Given the description of an element on the screen output the (x, y) to click on. 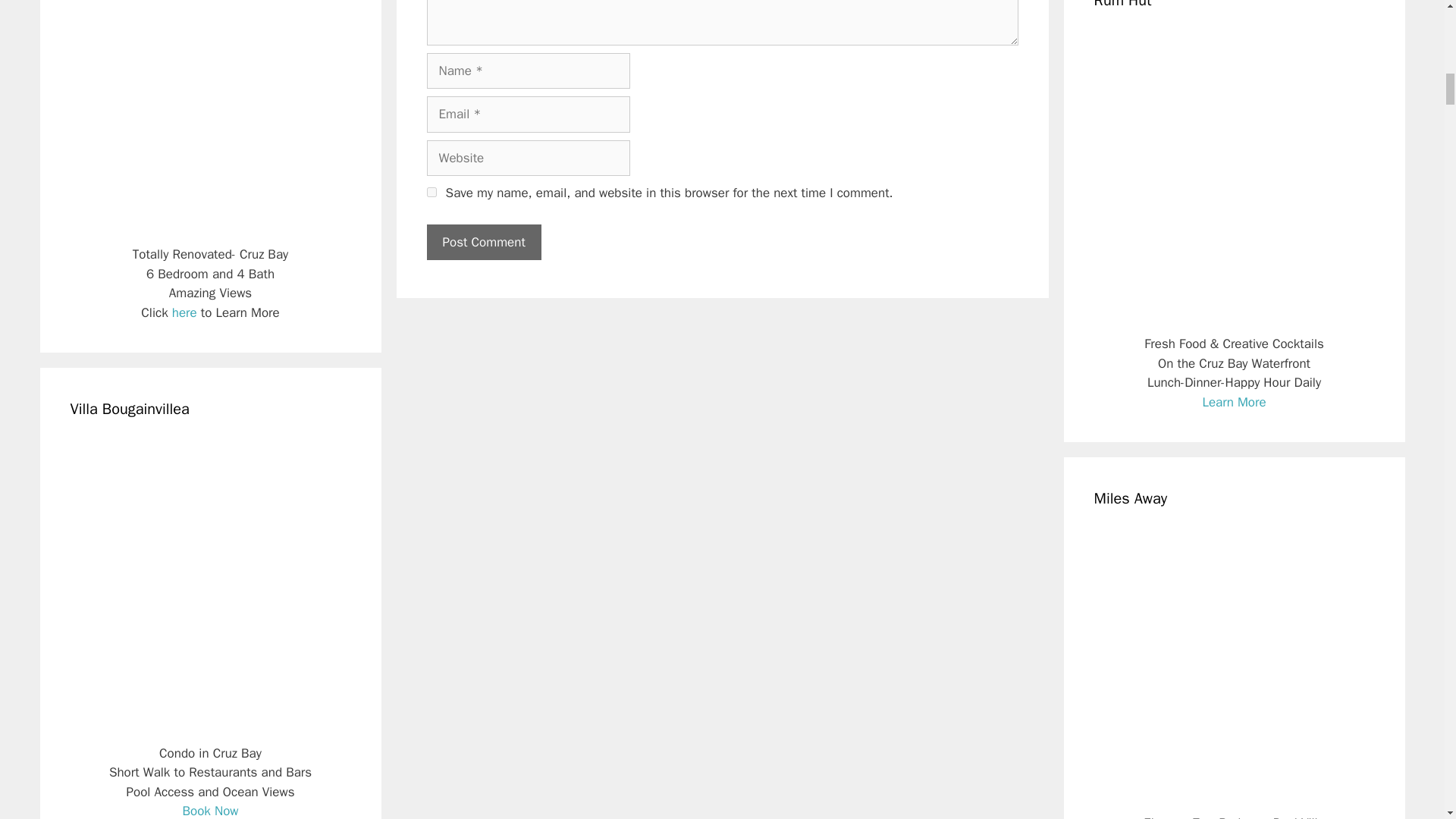
Post Comment (483, 242)
yes (430, 192)
